Given the description of an element on the screen output the (x, y) to click on. 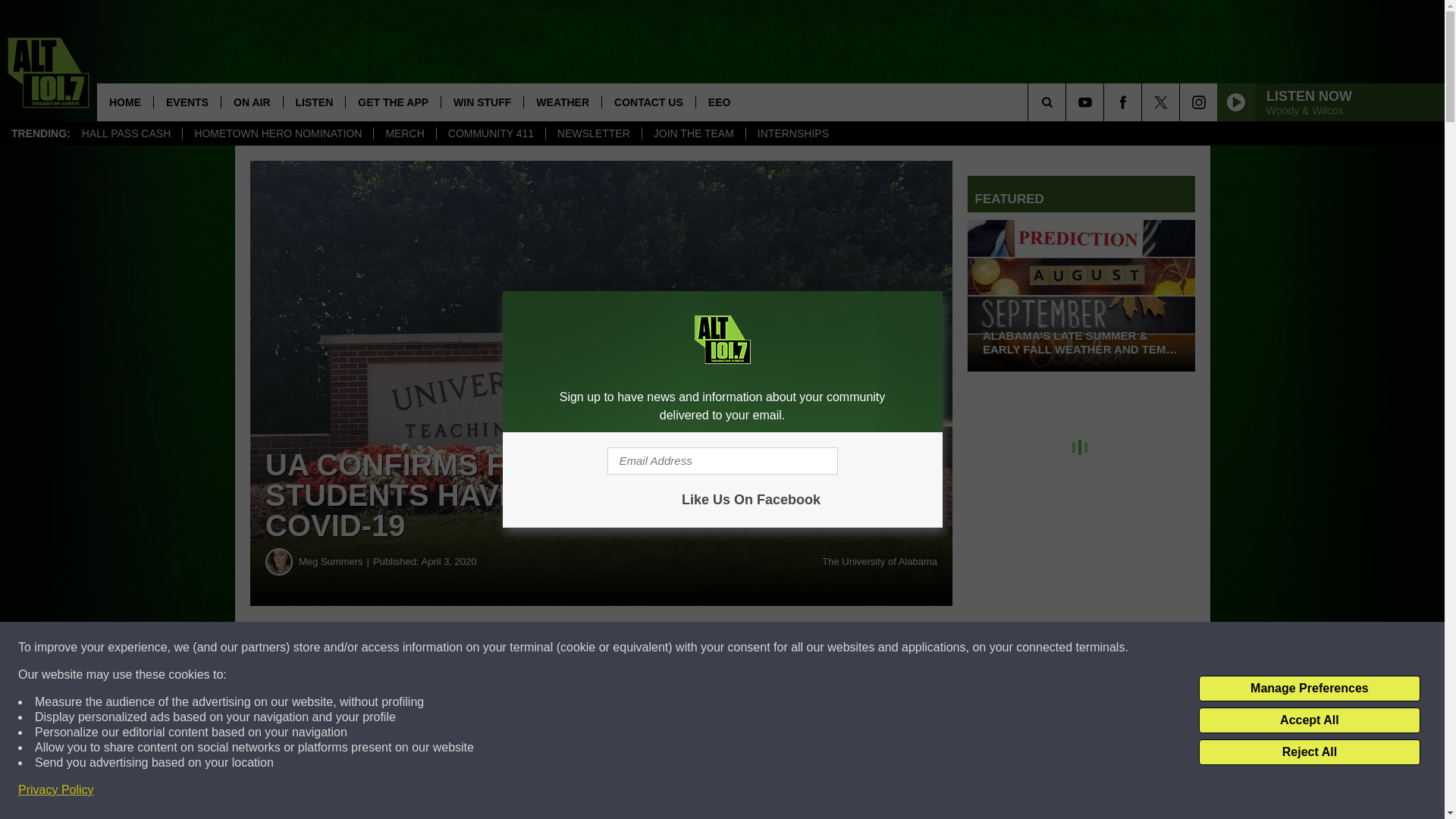
Privacy Policy (55, 789)
HOMETOWN HERO NOMINATION (277, 133)
Email Address (722, 461)
ON AIR (251, 102)
SEARCH (1068, 102)
MERCH (403, 133)
WIN STUFF (481, 102)
Share on Facebook (460, 647)
Share on Twitter (741, 647)
INTERNSHIPS (792, 133)
COMMUNITY 411 (489, 133)
SEARCH (1068, 102)
Accept All (1309, 720)
JOIN THE TEAM (693, 133)
EVENTS (186, 102)
